Given the description of an element on the screen output the (x, y) to click on. 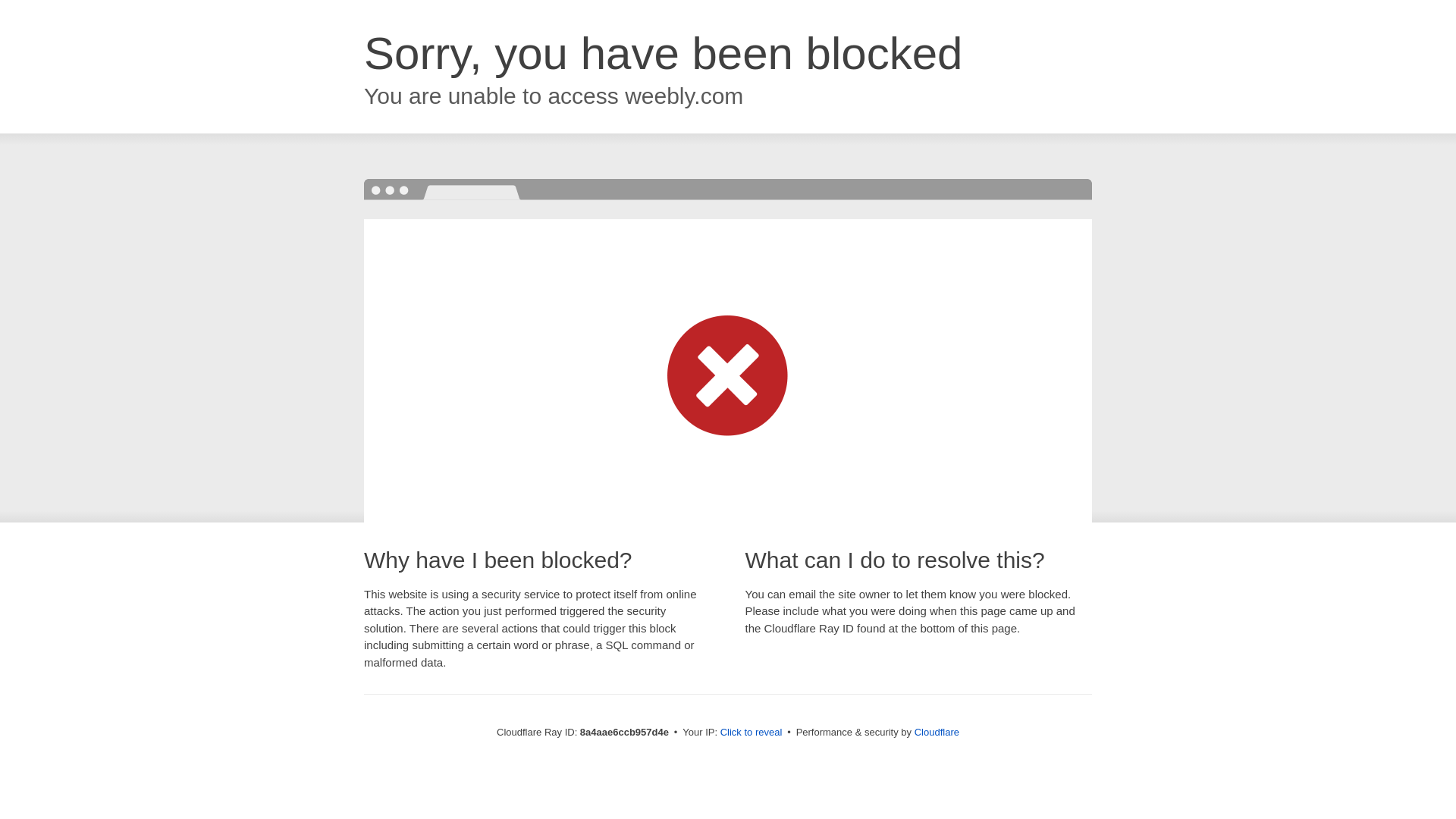
Cloudflare (936, 731)
Click to reveal (751, 732)
